Given the description of an element on the screen output the (x, y) to click on. 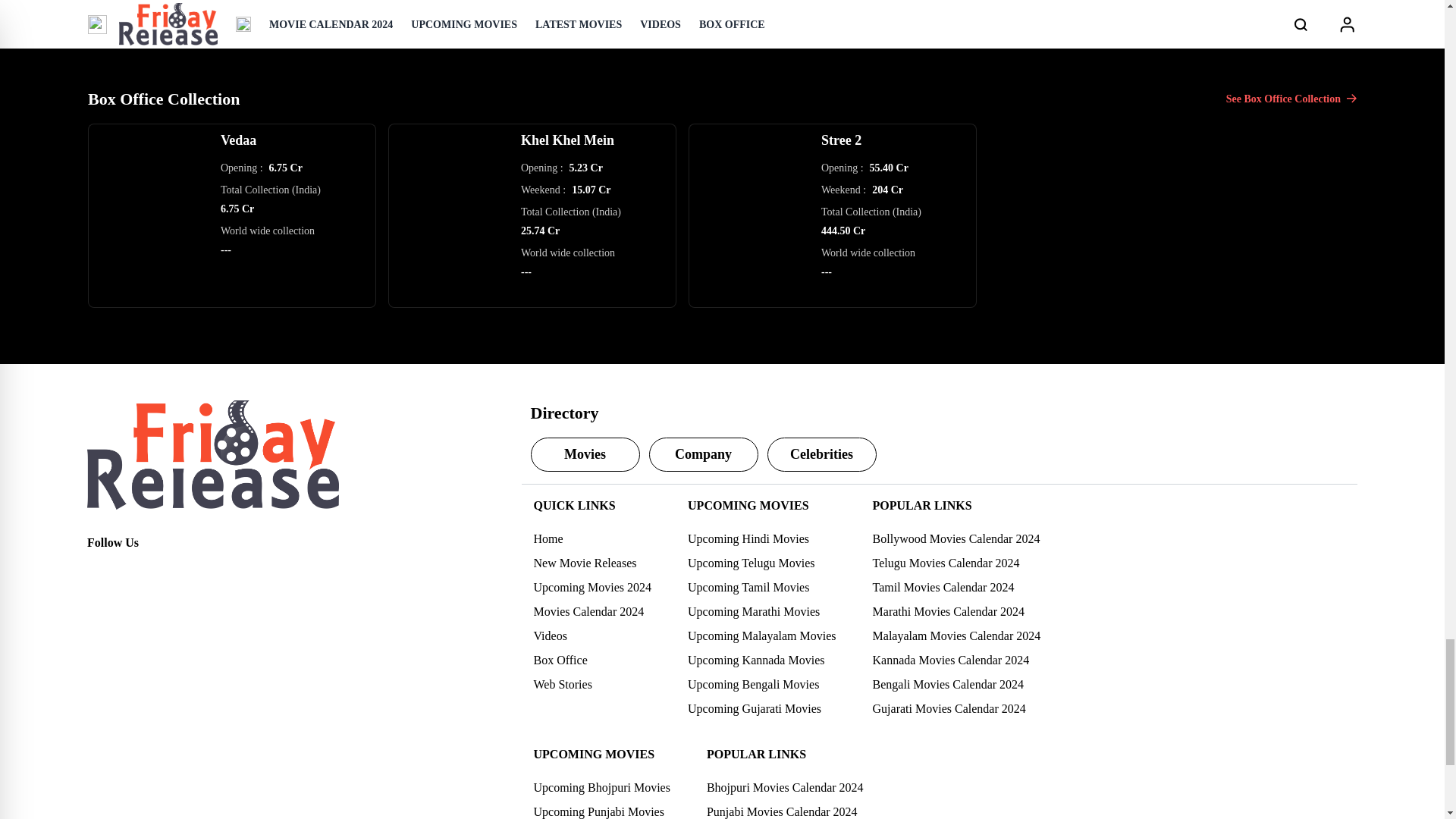
Twitter Page (132, 569)
Facebook Page (99, 569)
Instagram Page (165, 569)
Youtube Page (199, 569)
